Given the description of an element on the screen output the (x, y) to click on. 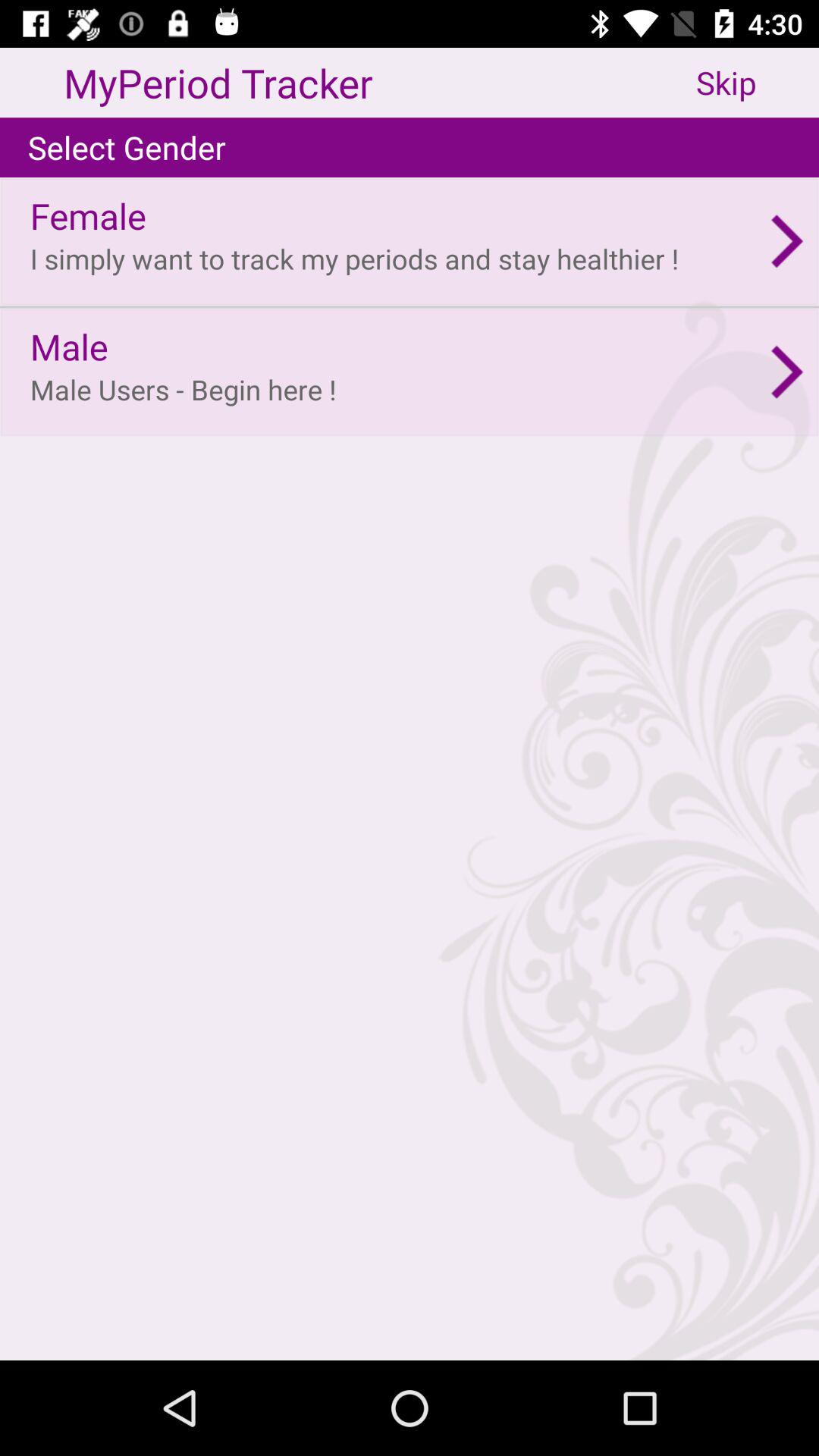
turn on icon next to the myperiod tracker item (757, 82)
